Given the description of an element on the screen output the (x, y) to click on. 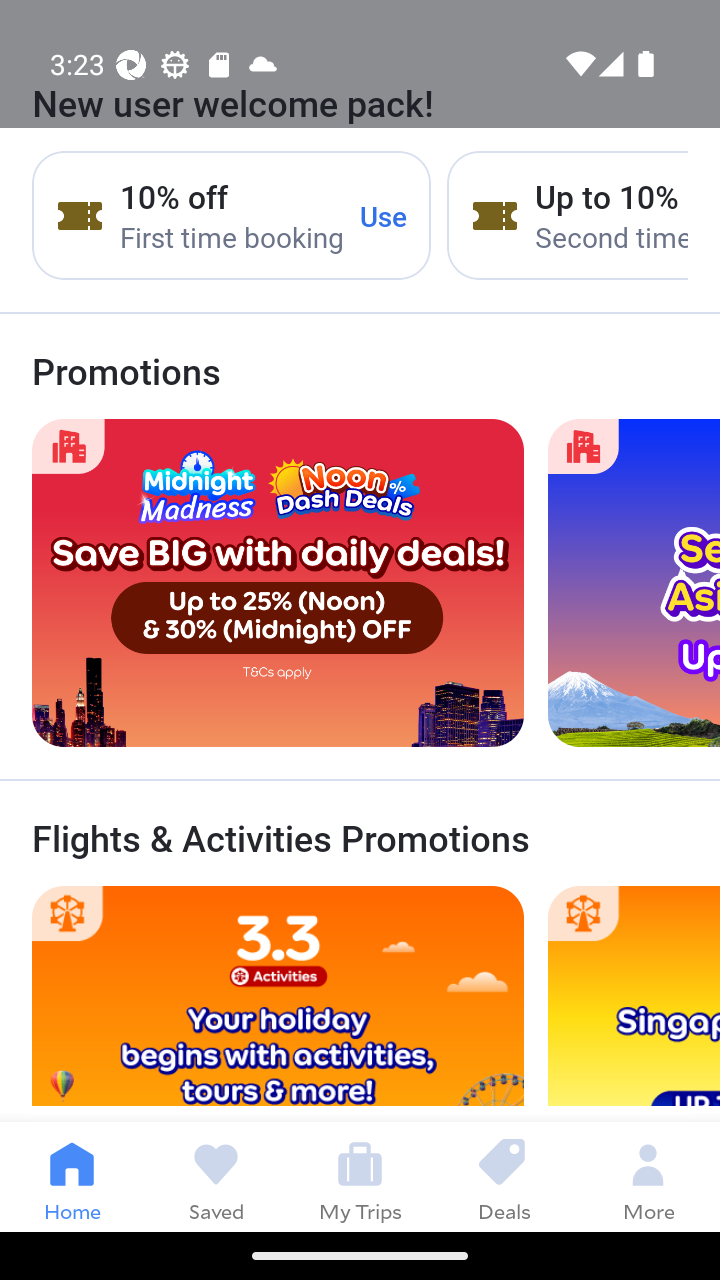
Use (384, 215)
Home (72, 1176)
Saved (216, 1176)
My Trips (360, 1176)
Deals (504, 1176)
More (648, 1176)
